Given the description of an element on the screen output the (x, y) to click on. 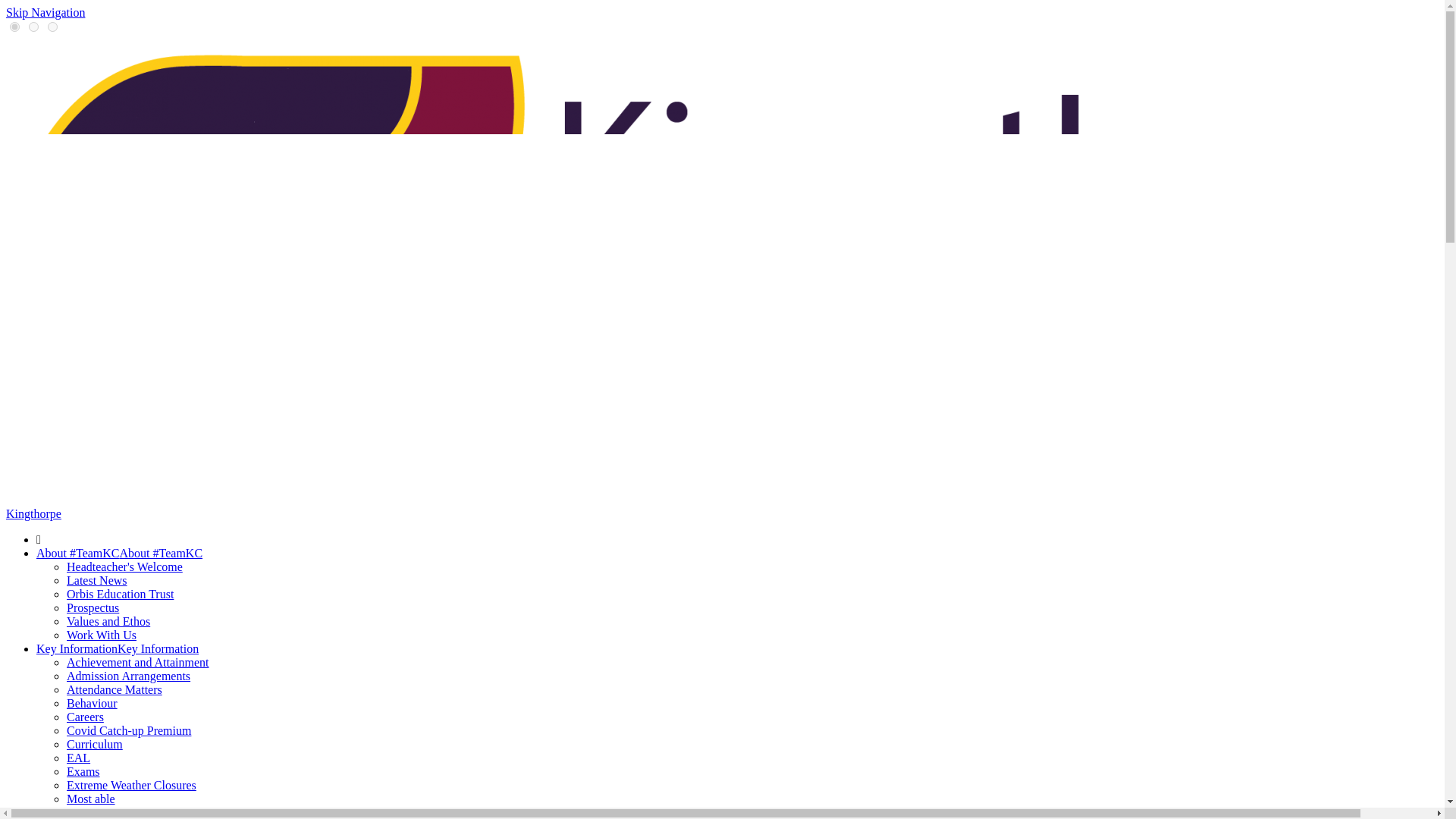
Extreme Weather Closures (131, 784)
Prospectus (92, 607)
Careers (84, 716)
Attendance Matters (113, 689)
Achievement and Attainment (137, 662)
Latest News (97, 580)
Work With Us (101, 634)
Prospectus (92, 607)
Most able (90, 798)
Headteacher's Welcome (124, 566)
